Given the description of an element on the screen output the (x, y) to click on. 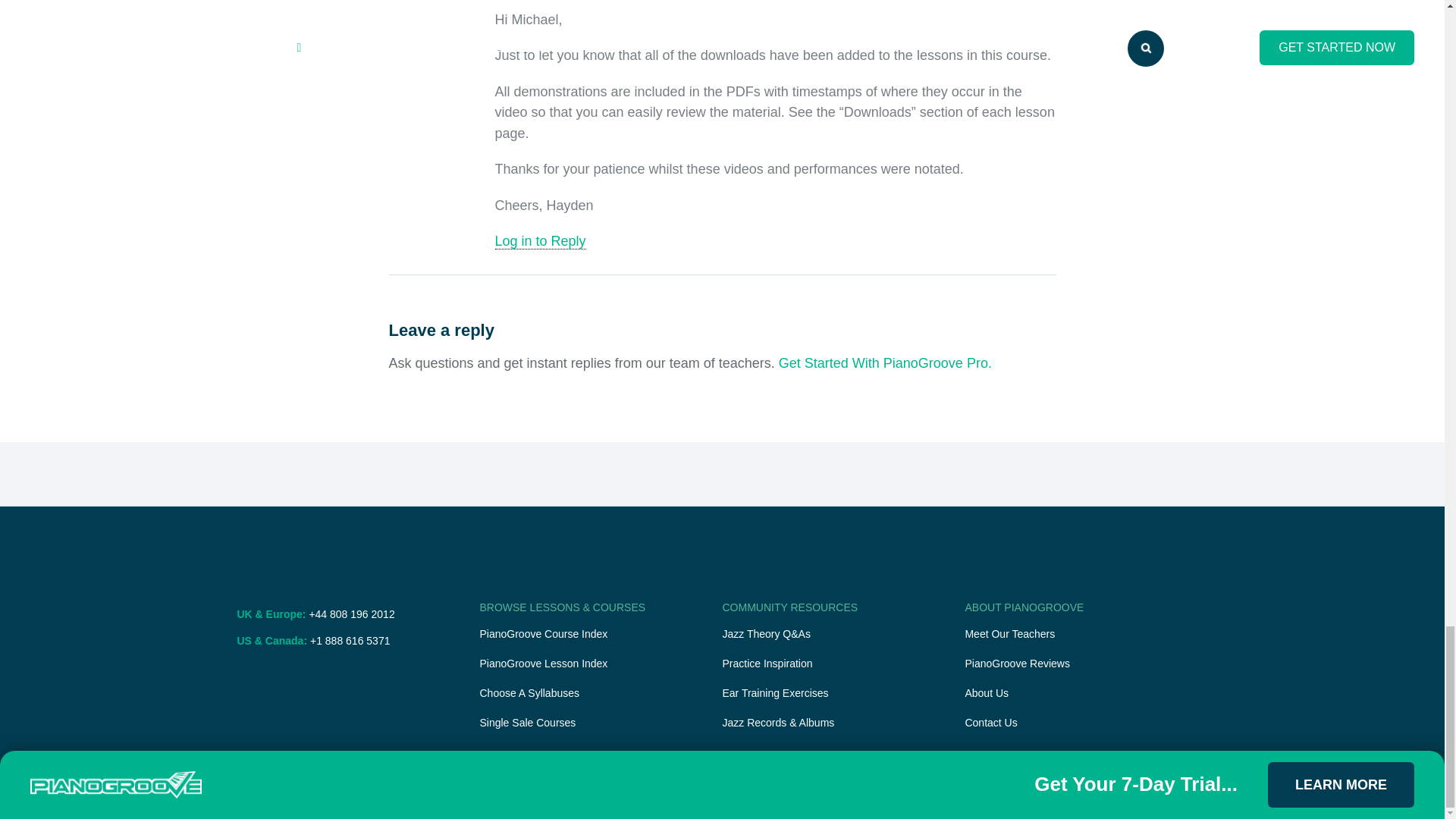
Log in to Reply (540, 241)
